Given the description of an element on the screen output the (x, y) to click on. 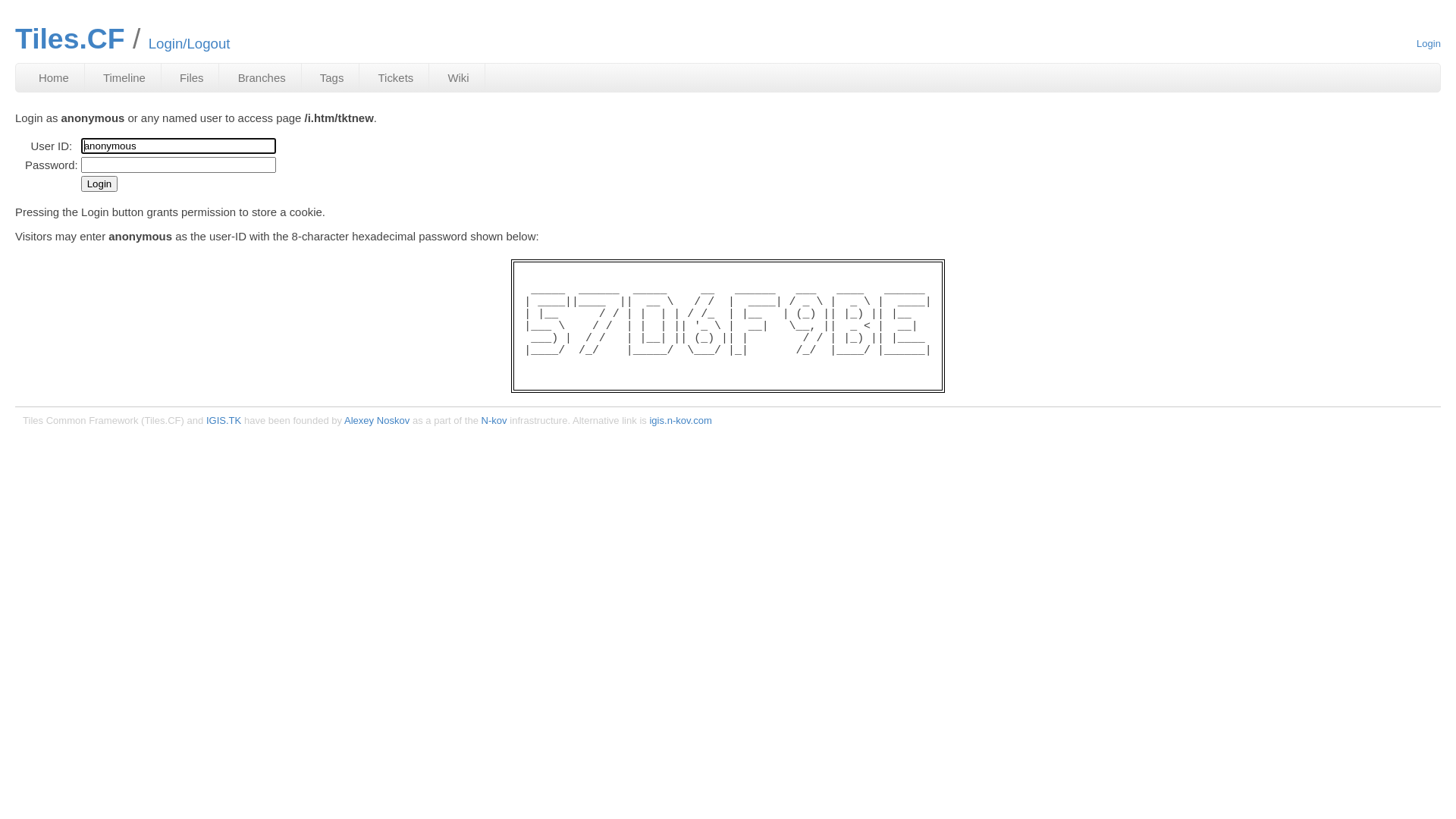
igis.n-kov.com Element type: text (680, 420)
N-kov Element type: text (494, 420)
Tags Element type: text (332, 77)
Tickets Element type: text (396, 77)
Timeline Element type: text (124, 77)
Alexey Noskov Element type: text (376, 420)
Branches Element type: text (261, 77)
Login Element type: text (99, 183)
Home Element type: text (53, 77)
IGIS.TK Element type: text (223, 420)
Wiki Element type: text (458, 77)
Files Element type: text (191, 77)
Login Element type: text (1428, 43)
